Given the description of an element on the screen output the (x, y) to click on. 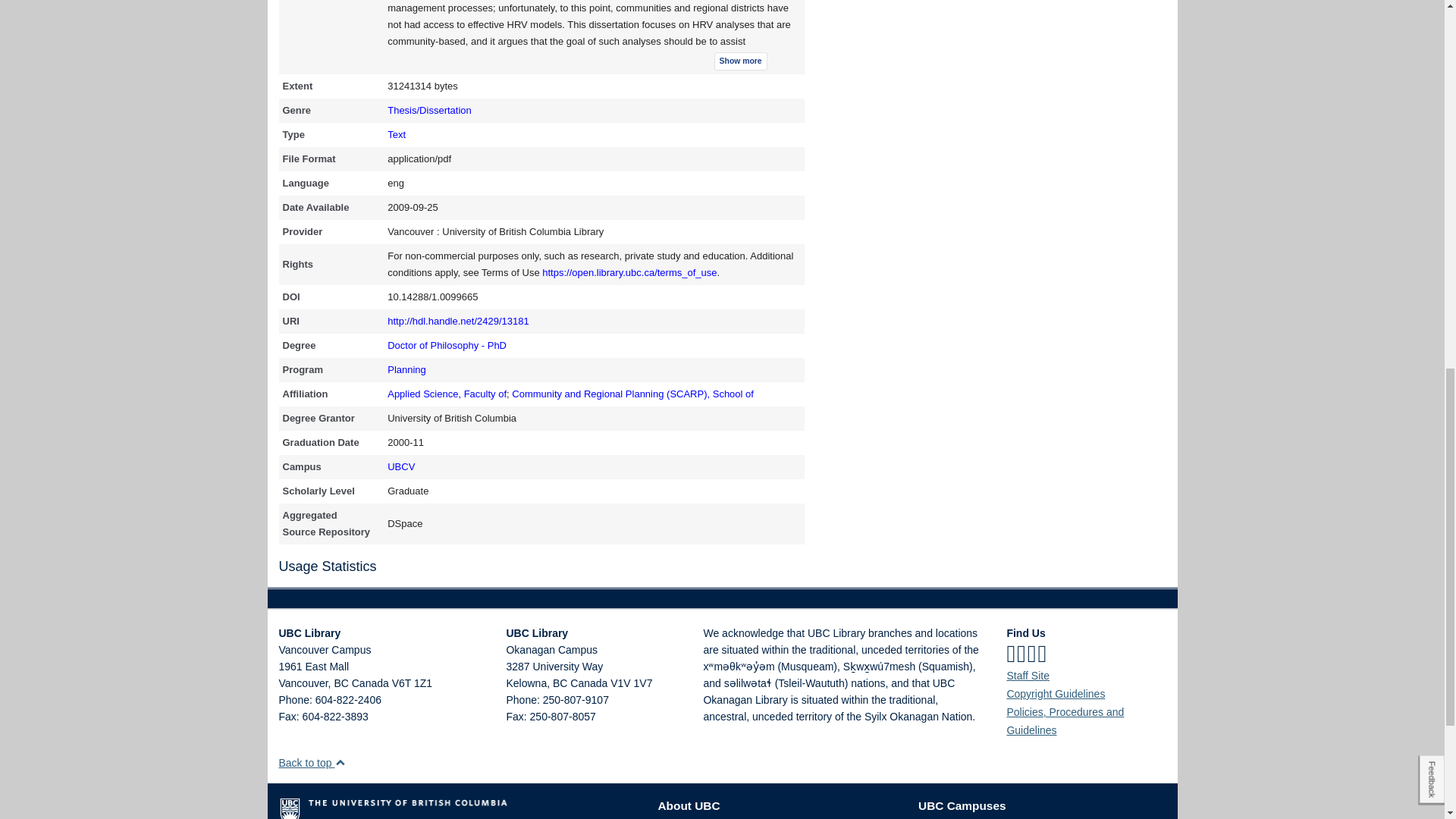
British Columbia (340, 683)
Youtube icon (1041, 653)
British Columbia (560, 683)
Twitter icon (1021, 653)
Instagram icon (1031, 653)
Facebook icon (1010, 653)
